Given the description of an element on the screen output the (x, y) to click on. 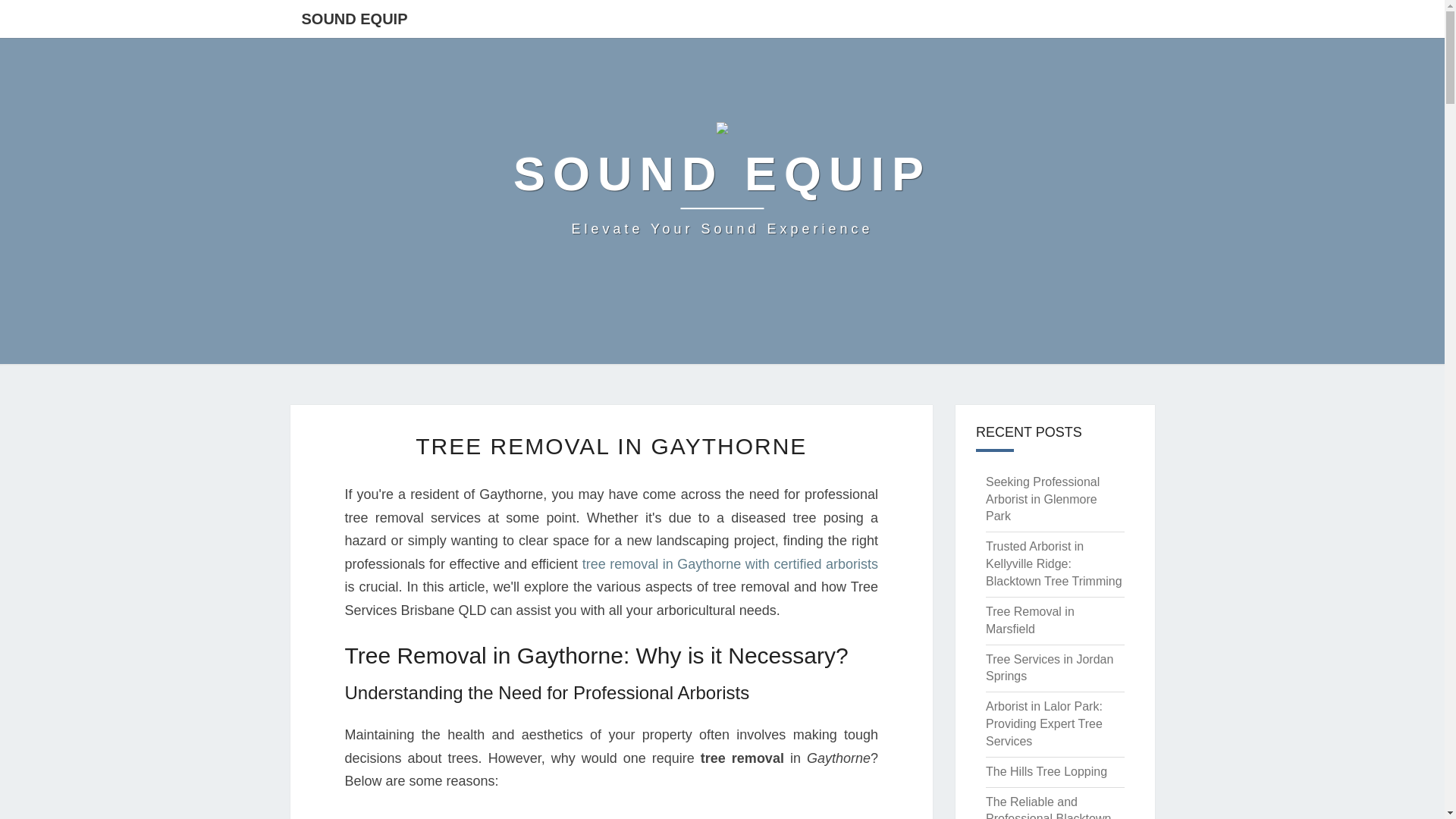
The Hills Tree Lopping (1045, 771)
Tree Removal in Marsfield (1029, 620)
SOUND EQUIP (354, 18)
tree removal in Gaythorne with certified arborists (729, 563)
Seeking Professional Arborist in Glenmore Park (1042, 499)
Sound Equip (722, 183)
Tree Services in Jordan Springs (722, 183)
Arborist in Lalor Park: Providing Expert Tree Services (1049, 667)
TREE REMOVAL IN GAYTHORNE (1043, 723)
The Reliable and Professional Blacktown Tree Services (610, 446)
